Given the description of an element on the screen output the (x, y) to click on. 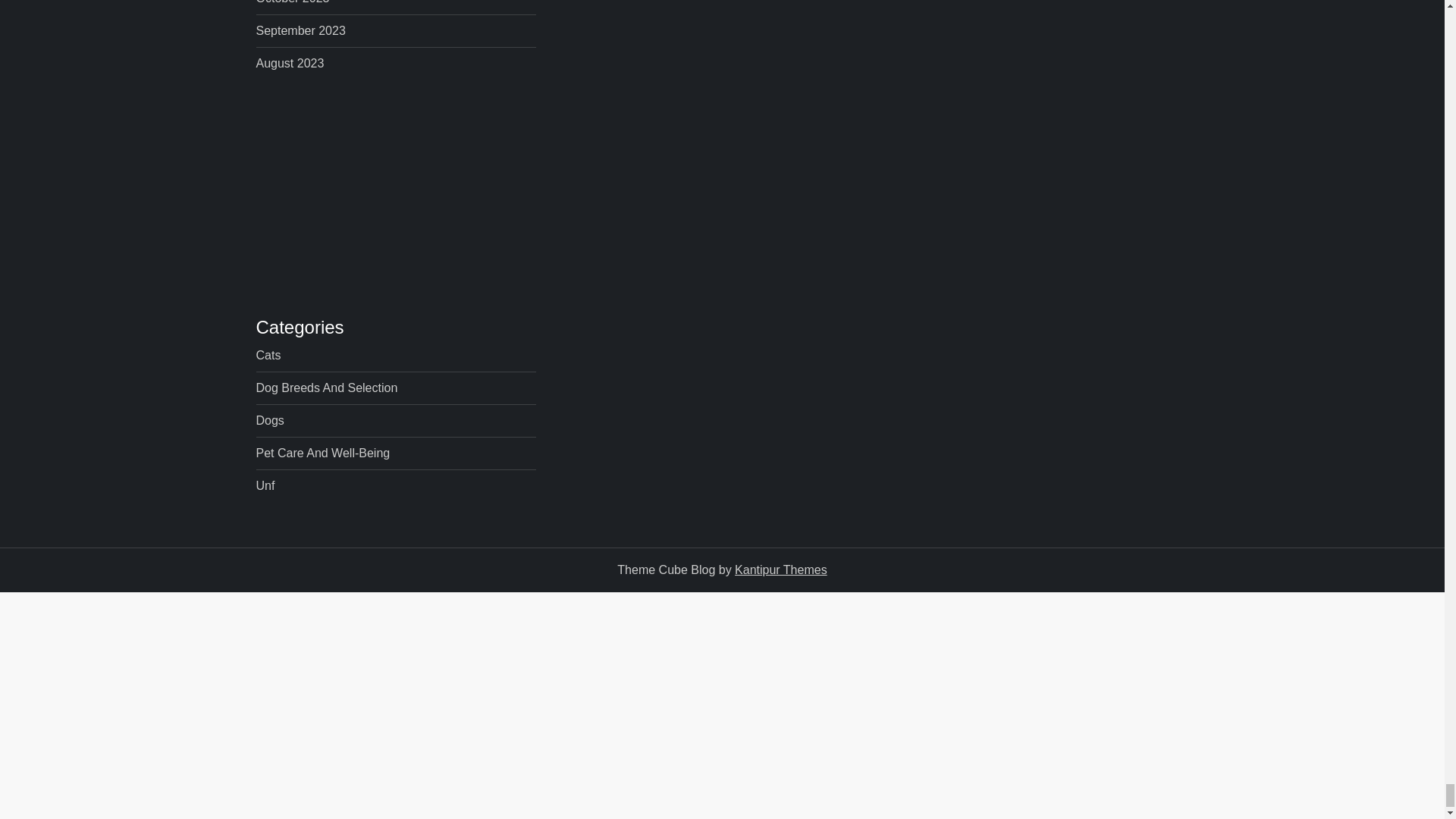
Dog Breeds And Selection (326, 387)
September 2023 (301, 30)
October 2023 (293, 4)
August 2023 (290, 63)
Cats (268, 355)
